Given the description of an element on the screen output the (x, y) to click on. 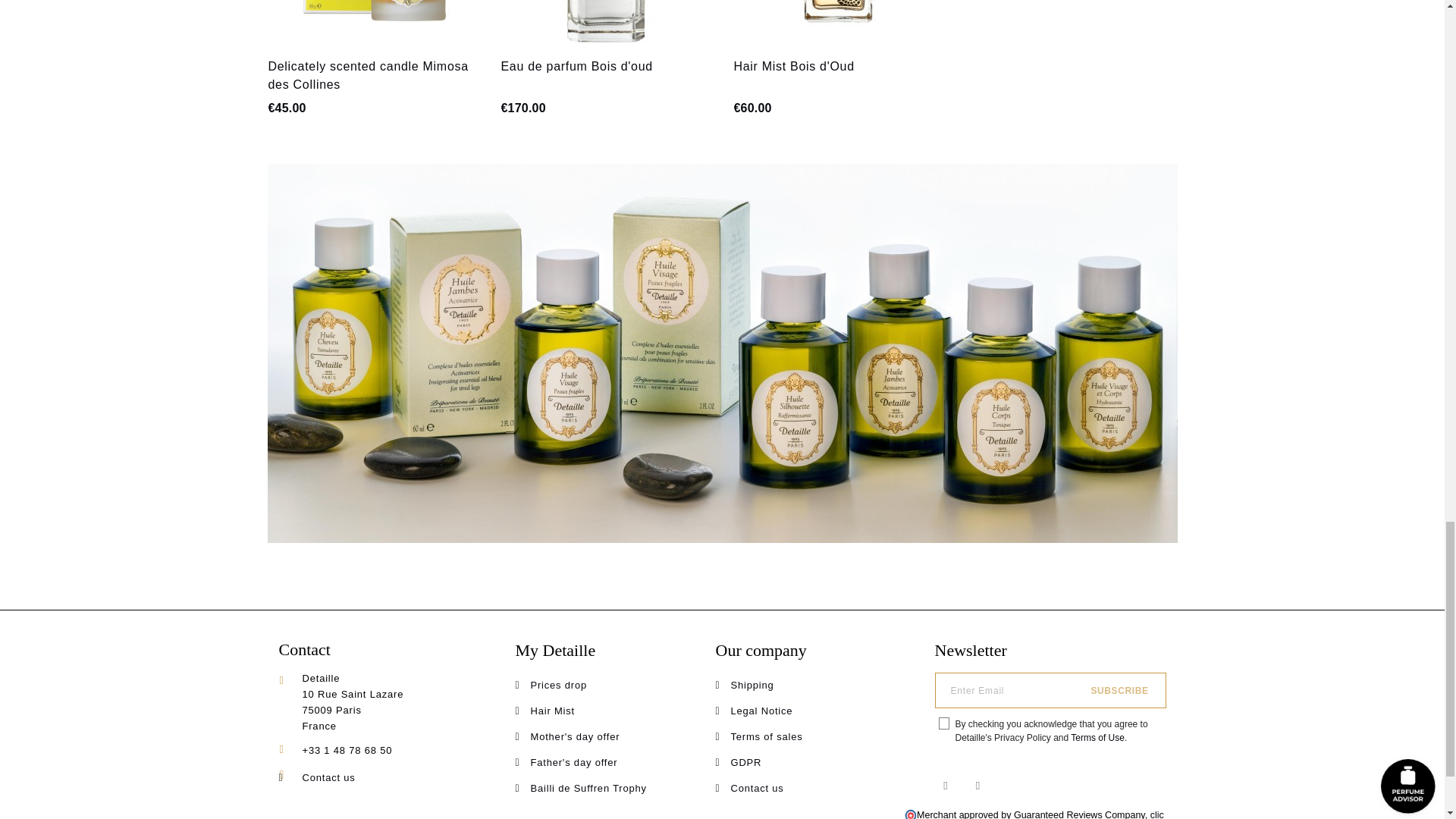
Subscribe (1119, 690)
Discover our GDPR policy on detaille.com (745, 762)
Our special products (559, 685)
Delicately scented candle Mimosa des Collines (367, 74)
Use our form to contact us (757, 787)
Discover our terms of sales for Maison Detaille (766, 736)
Eau de parfum Bois d'oud (576, 65)
Prices drop (559, 685)
Contact us (328, 777)
Our legal notice by Maison Detaille Paris. (761, 710)
Hair Mist Bois d'Oud (793, 65)
Our shipping informations for Maison Detaille Paris (752, 685)
